Given the description of an element on the screen output the (x, y) to click on. 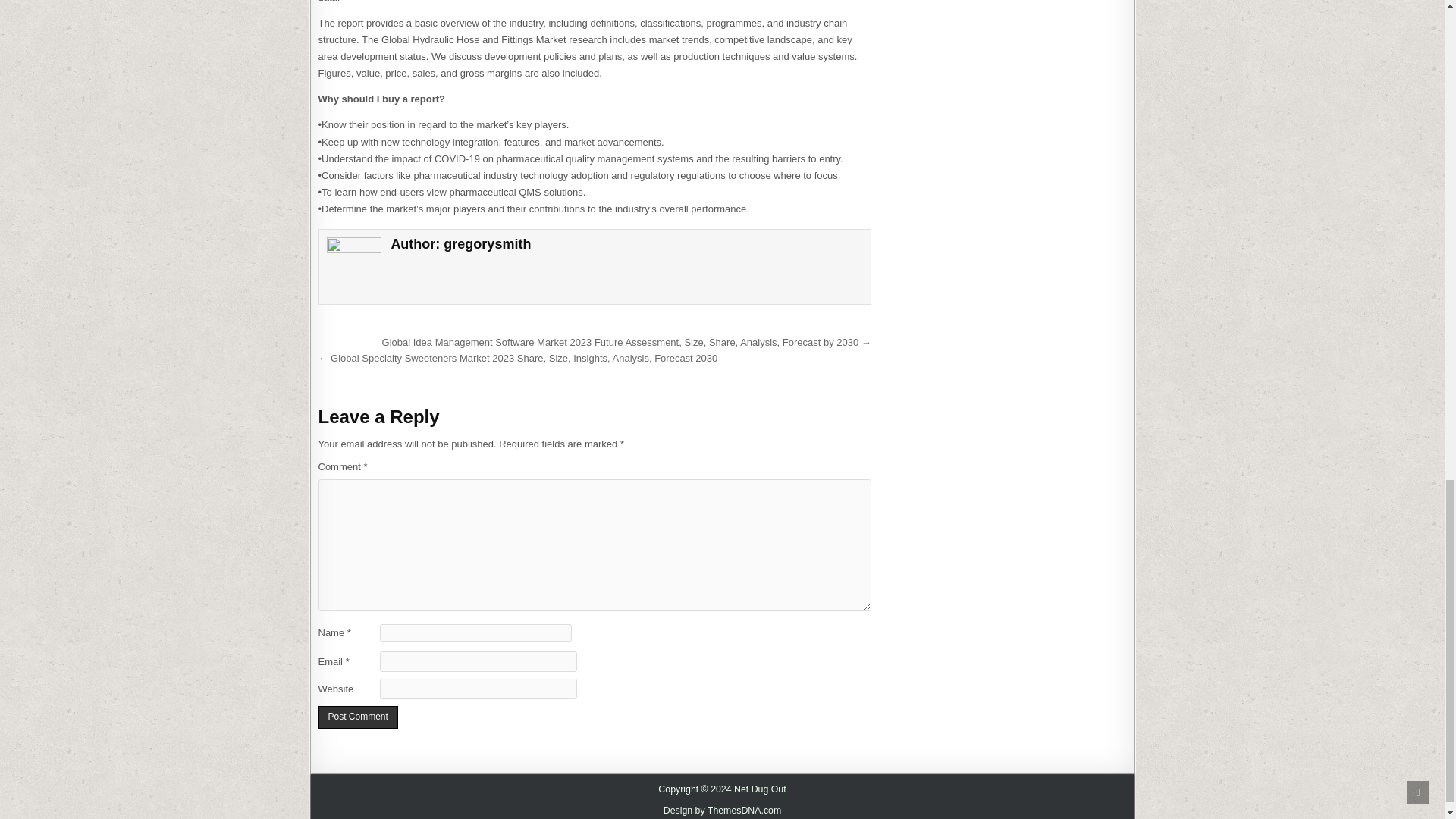
Post Comment (357, 717)
Post Comment (357, 717)
